Given the description of an element on the screen output the (x, y) to click on. 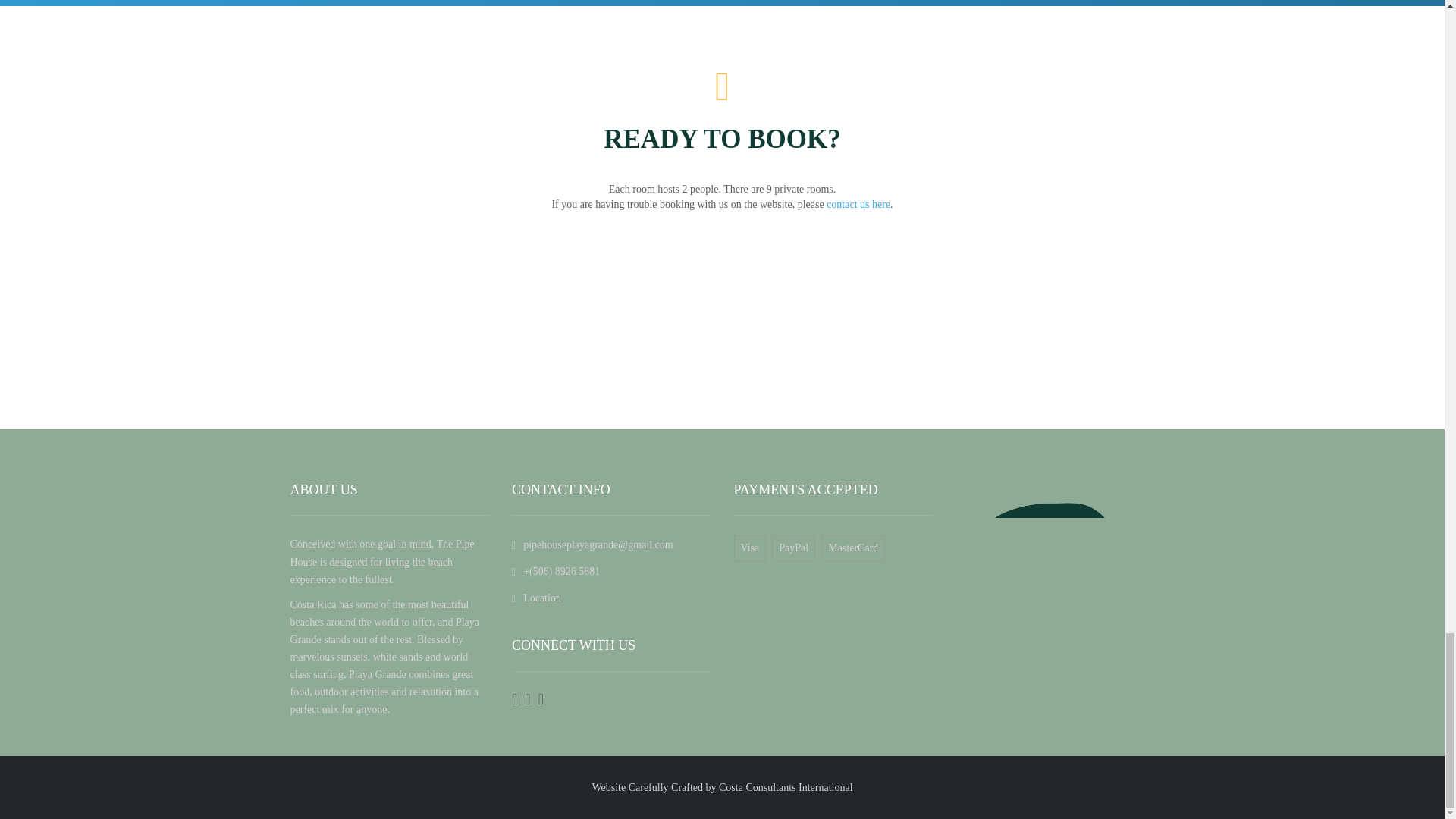
PayPal (796, 547)
MasterCard (856, 547)
contact us here (858, 204)
Location (536, 597)
Costa Consultants International (786, 787)
Visa (753, 547)
